Given the description of an element on the screen output the (x, y) to click on. 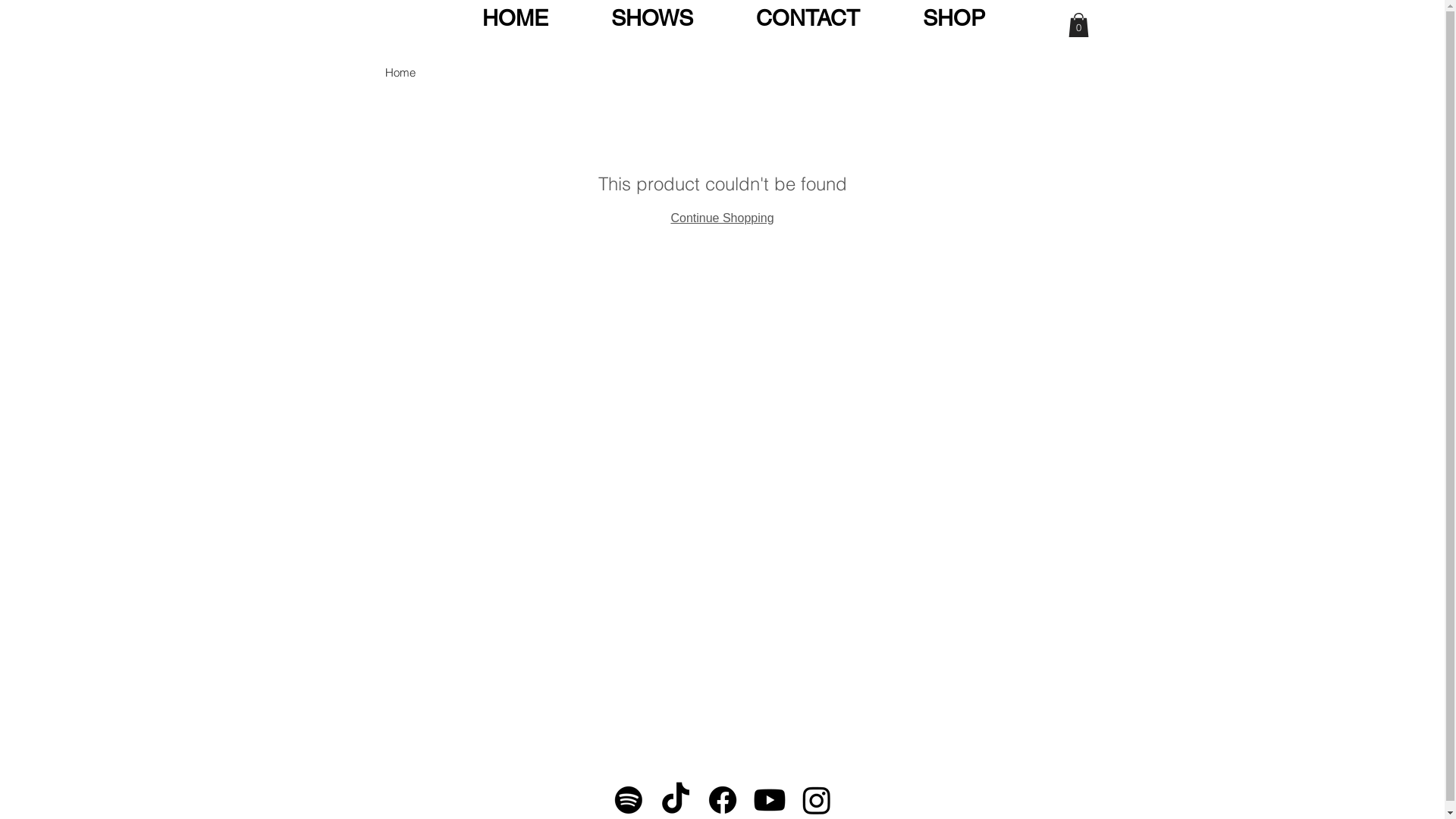
0 Element type: text (1077, 24)
Home Element type: text (400, 72)
CONTACT Element type: text (807, 11)
Continue Shopping Element type: text (721, 217)
SHOWS Element type: text (651, 11)
SHOP Element type: text (953, 11)
HOME Element type: text (514, 11)
